Given the description of an element on the screen output the (x, y) to click on. 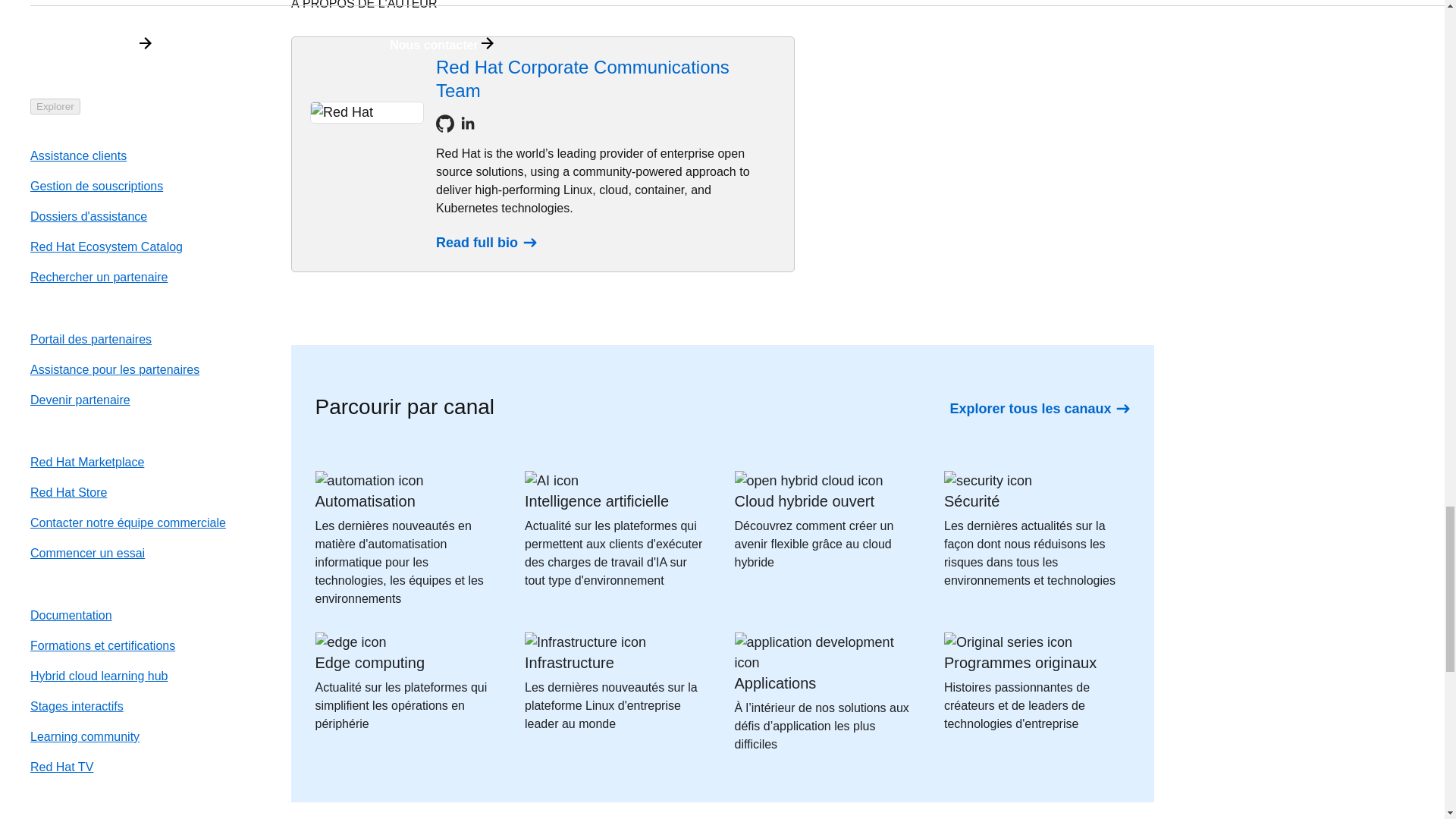
Follow Red Hat Corporate Communications Team LinkedIn (467, 123)
Follow Red Hat Corporate Communications Team on Github (443, 123)
